Given the description of an element on the screen output the (x, y) to click on. 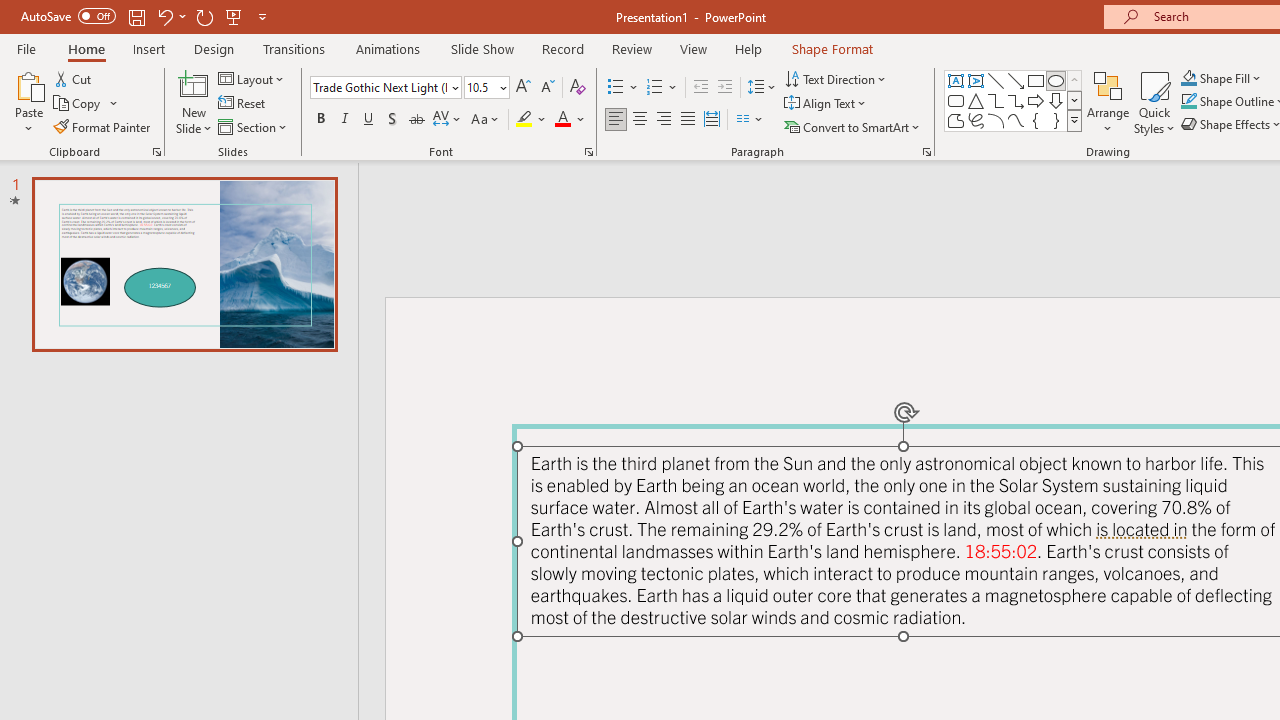
Undo (170, 15)
Class: NetUIImage (1075, 120)
Bold (320, 119)
AutoSave (68, 16)
Copy (85, 103)
Undo (164, 15)
Bullets (616, 87)
Line Arrow (1016, 80)
Character Spacing (447, 119)
New Slide (193, 102)
Text Highlight Color (531, 119)
Isosceles Triangle (975, 100)
Row up (1074, 79)
Cut (73, 78)
Vertical Text Box (975, 80)
